Given the description of an element on the screen output the (x, y) to click on. 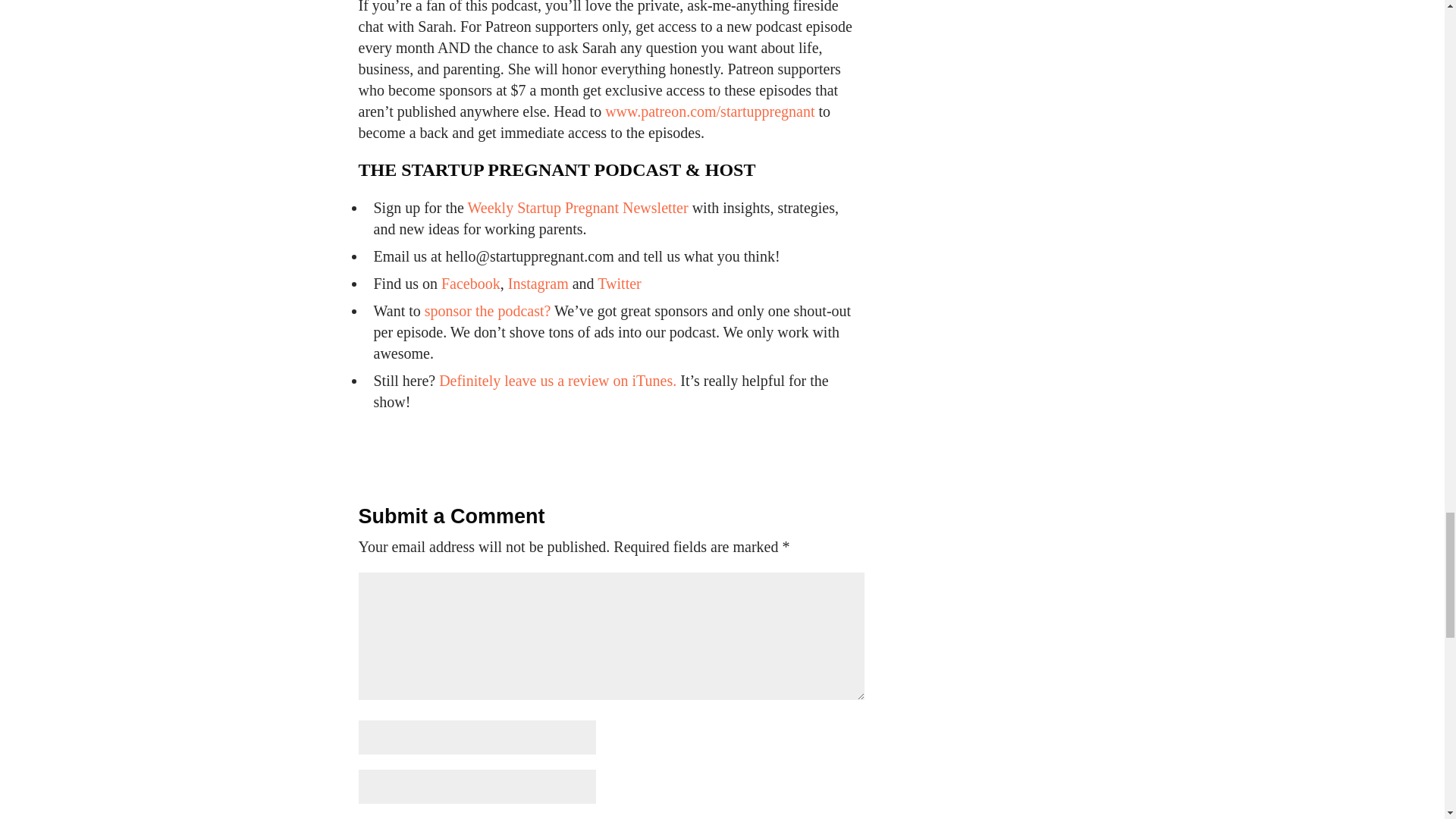
Weekly Startup Pregnant Newsletter (576, 207)
